Given the description of an element on the screen output the (x, y) to click on. 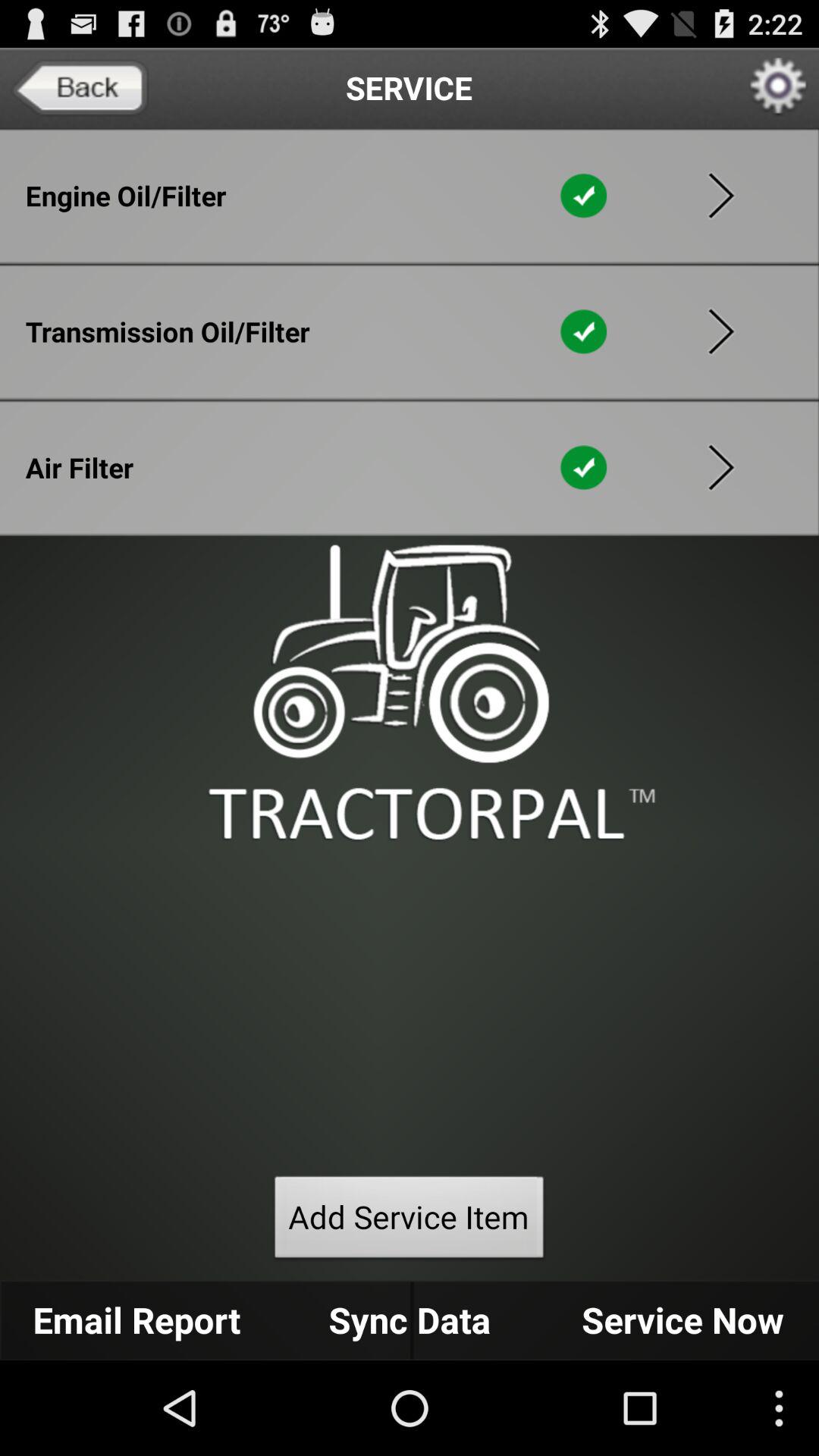
go to next page (721, 195)
